Given the description of an element on the screen output the (x, y) to click on. 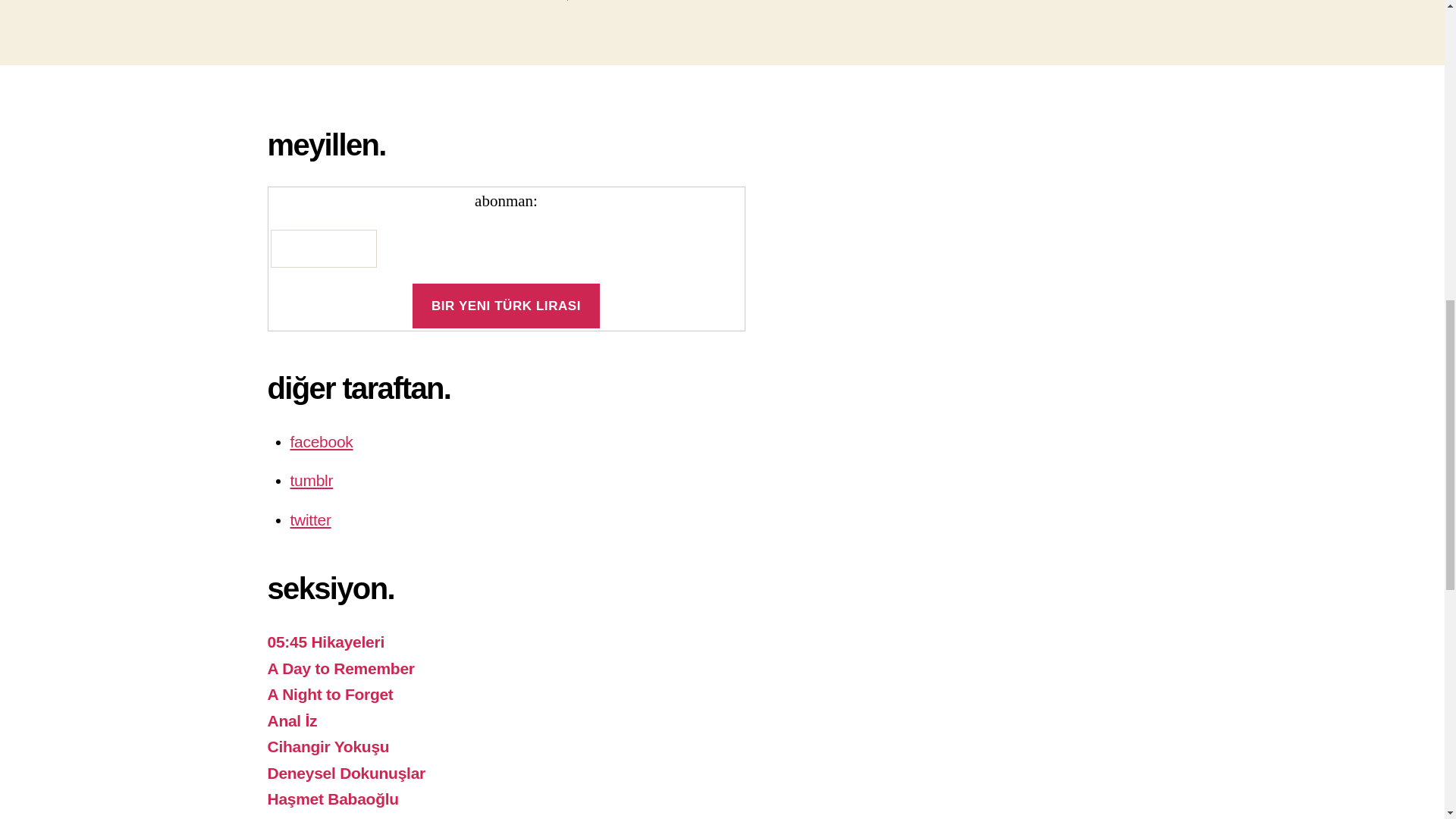
twitter (309, 519)
facebook (320, 441)
tumblr (311, 479)
